Given the description of an element on the screen output the (x, y) to click on. 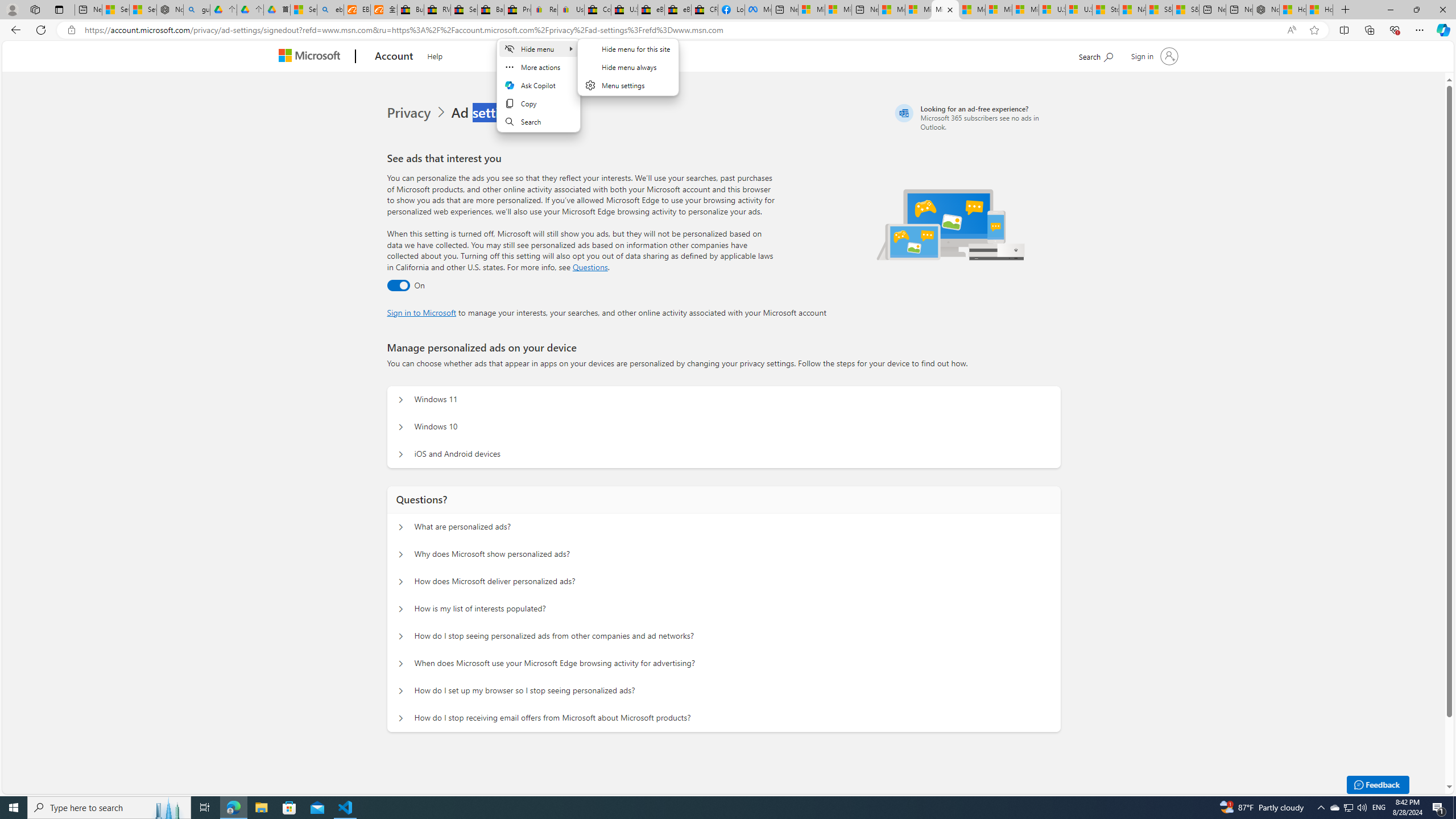
Sell worldwide with eBay (463, 9)
Hide menu (628, 66)
Sign in to your account (1153, 55)
Search (537, 122)
Menu settings (628, 85)
Sign in to Microsoft (422, 311)
Minimize (1390, 9)
Copy (537, 103)
Tab actions menu (58, 9)
